Given the description of an element on the screen output the (x, y) to click on. 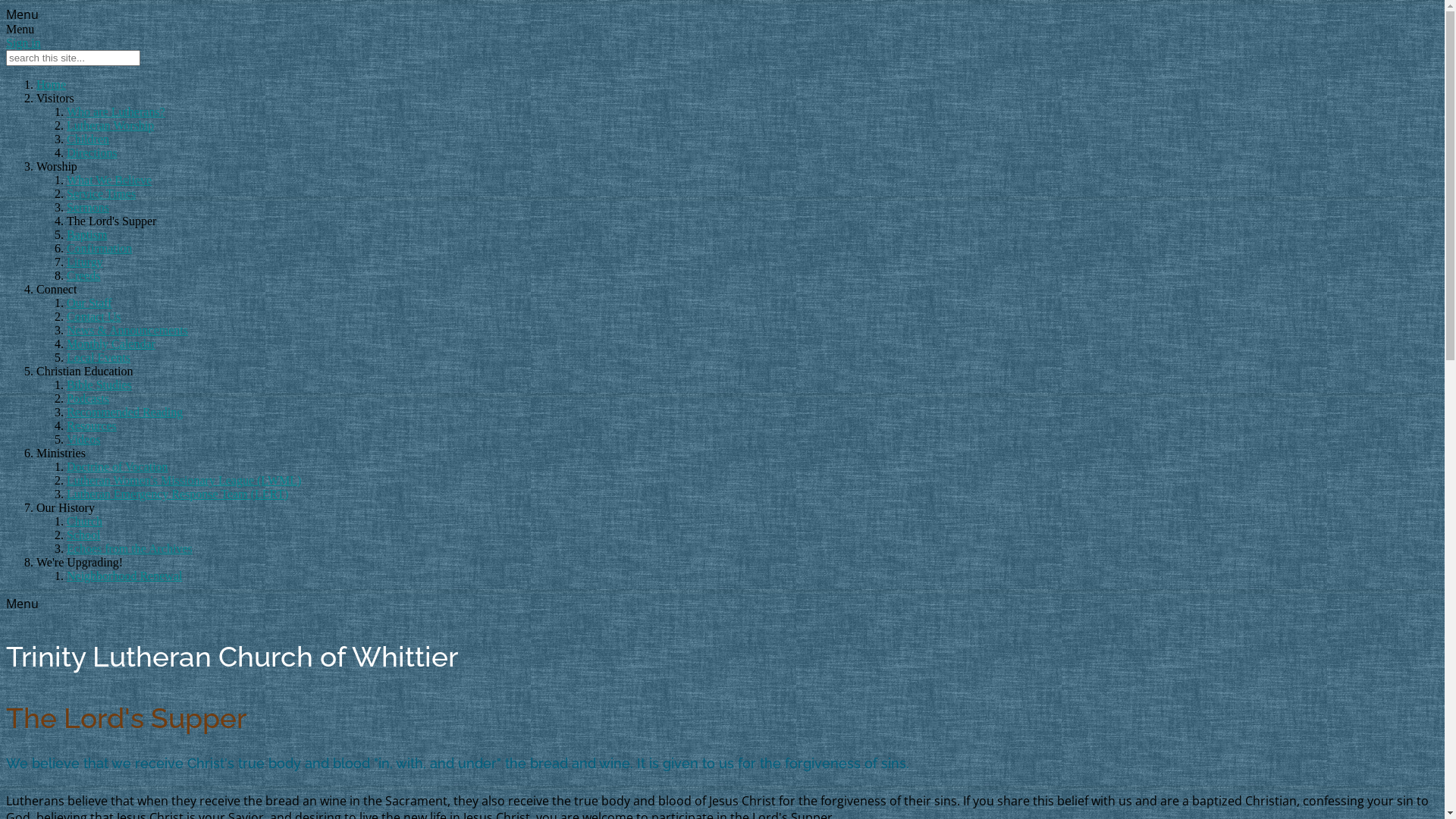
Church Element type: text (84, 520)
Lutheran Women's Missionary League (LWML) Element type: text (183, 479)
Baptism Element type: text (86, 234)
Echoes from the Archives Element type: text (129, 548)
Home Element type: text (50, 84)
Podcasts Element type: text (87, 398)
Resources Element type: text (91, 425)
Who are Lutherans? Element type: text (115, 111)
Children Element type: text (87, 138)
School Element type: text (83, 534)
Lutheran Worship Element type: text (109, 125)
Service Times Element type: text (100, 193)
Confirmation Element type: text (98, 247)
News & Announcements Element type: text (127, 329)
Sermons Element type: text (87, 206)
Monthly Calendar Element type: text (110, 343)
Bible Studies Element type: text (98, 384)
Sign in Element type: text (23, 42)
Local Events Element type: text (98, 357)
Lutheran Emergency Response Team (LERT) Element type: text (177, 493)
Our Staff Element type: text (89, 302)
Doctrine of Vocation Element type: text (117, 466)
Recommended Reading Element type: text (124, 411)
Creeds Element type: text (83, 275)
Videos Element type: text (83, 439)
Liturgy Element type: text (84, 261)
Directions Element type: text (91, 152)
What We Believe Element type: text (108, 179)
Contact Us Element type: text (93, 316)
Neighborhood Renewal Element type: text (124, 575)
